Given the description of an element on the screen output the (x, y) to click on. 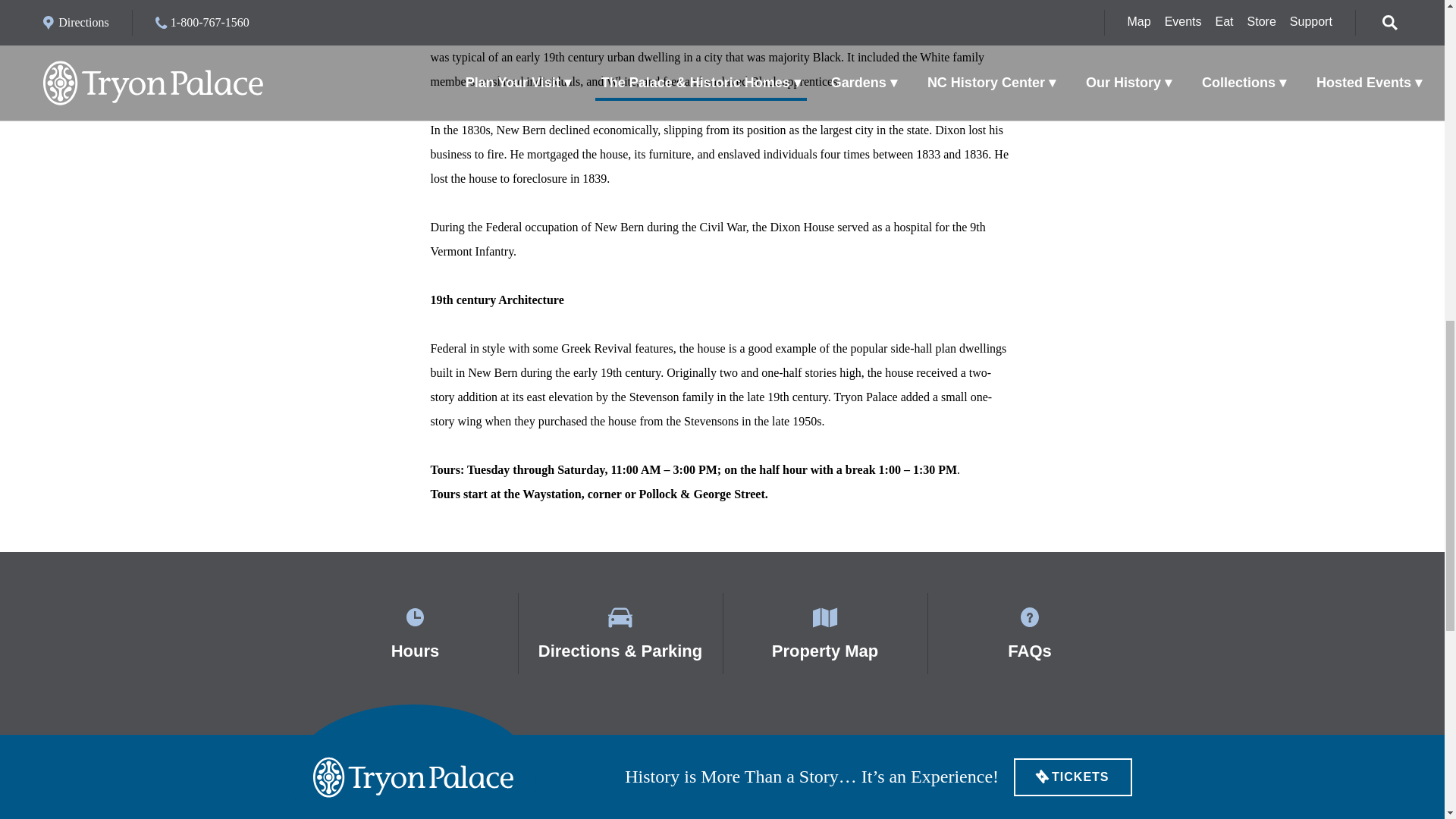
homepage (412, 776)
